Given the description of an element on the screen output the (x, y) to click on. 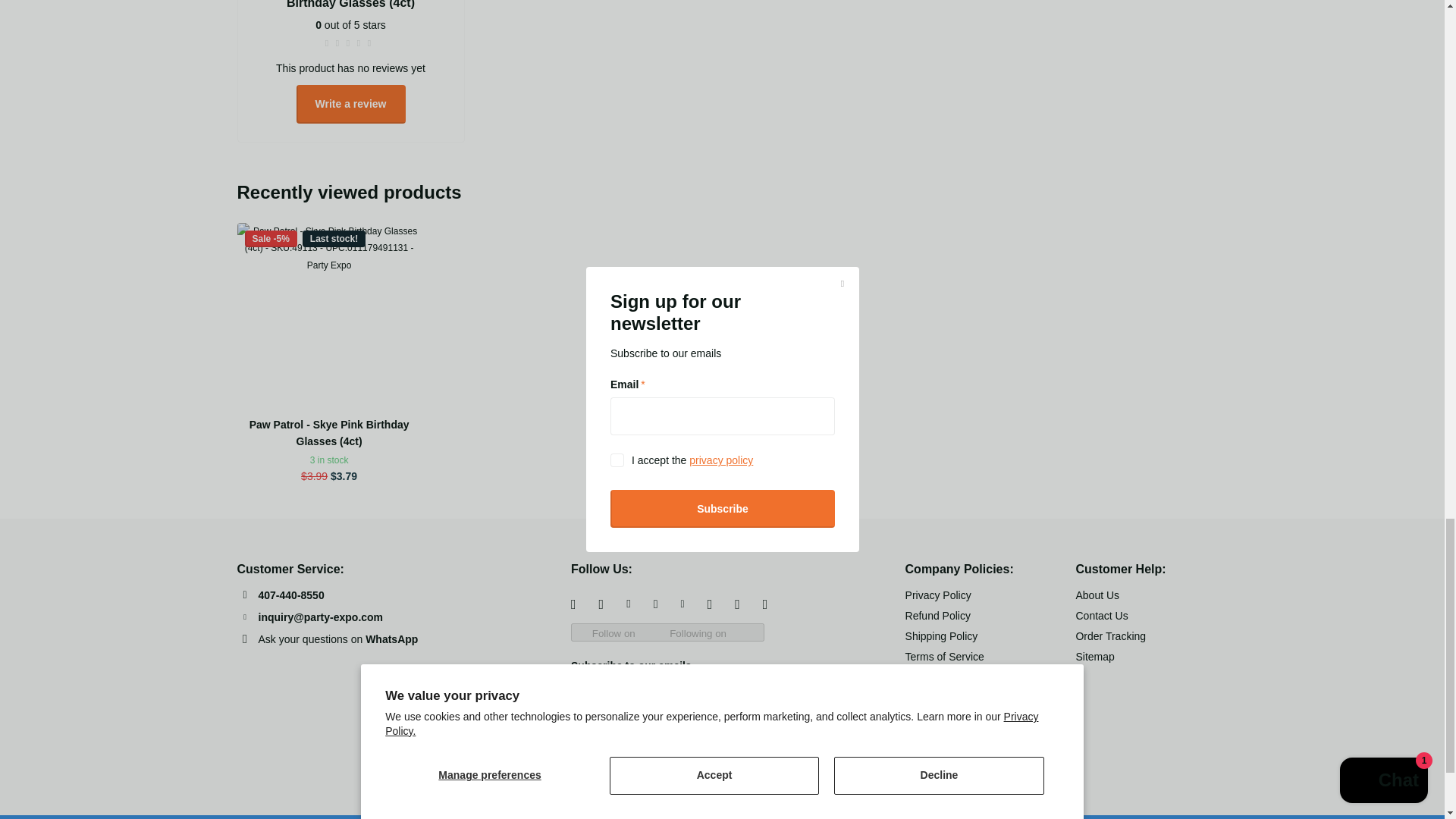
Terms of Service (944, 656)
Contact Us (1100, 615)
Shipping Policy (941, 635)
Privacy Policy (938, 594)
About Us (1097, 594)
Do not sell my personal information (960, 686)
Order Tracking (1110, 635)
Refund Policy (938, 615)
Sitemap (1094, 656)
